Given the description of an element on the screen output the (x, y) to click on. 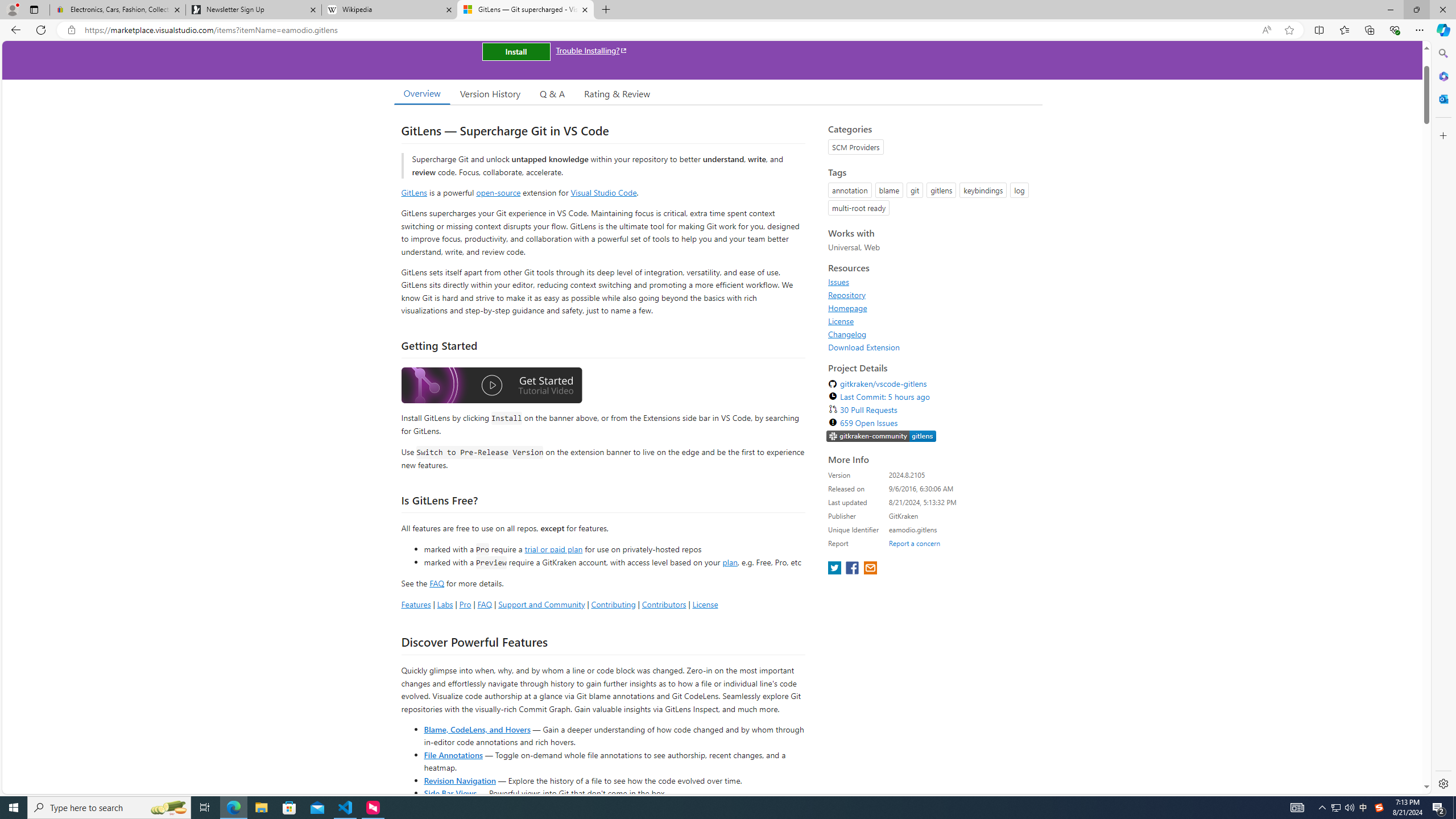
GitLens (414, 192)
Outlook (1442, 98)
Contributors (663, 603)
Homepage (847, 307)
Pro (464, 603)
Repository (931, 294)
